Given the description of an element on the screen output the (x, y) to click on. 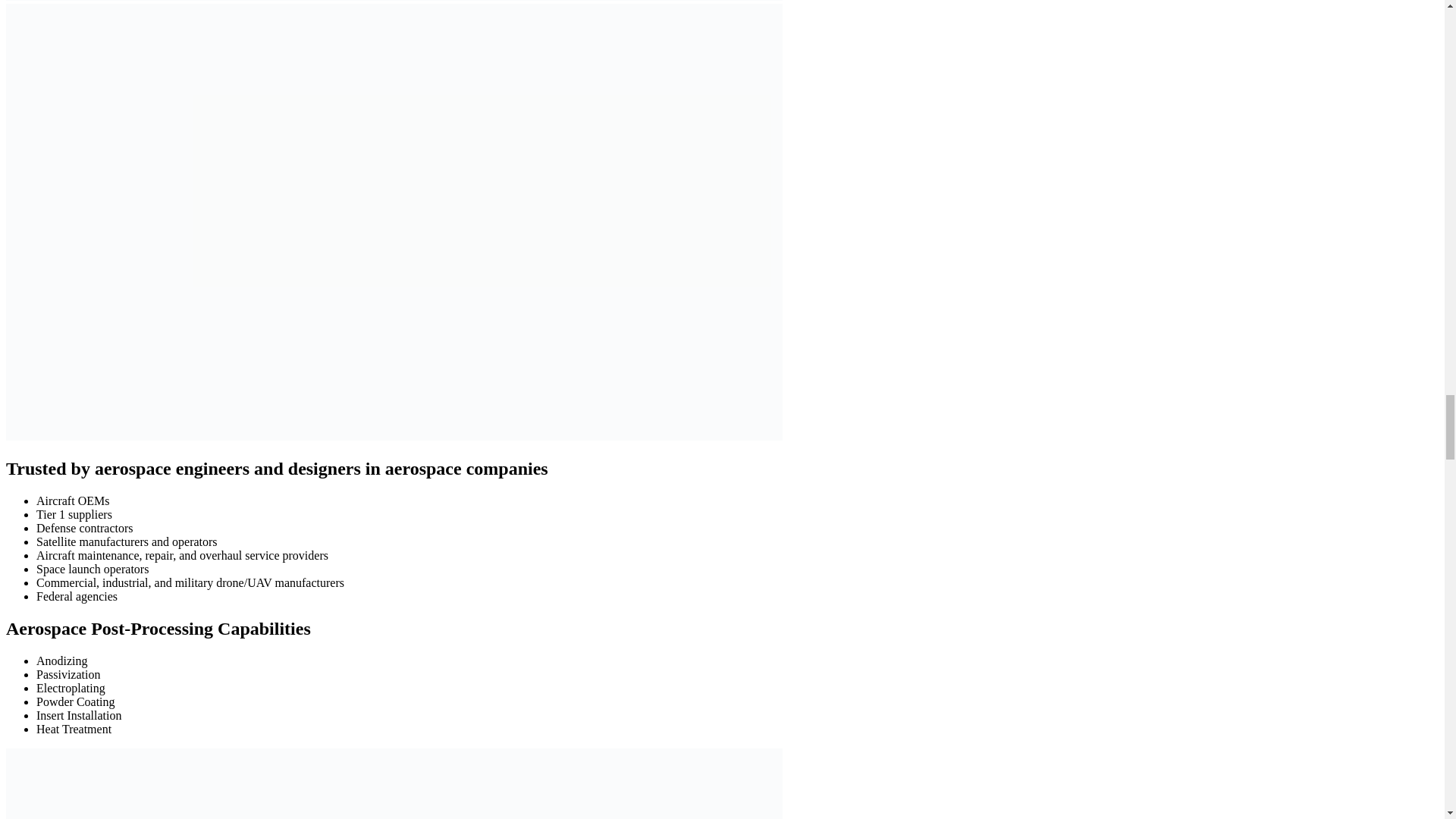
Aerospace 5 (394, 783)
